Given the description of an element on the screen output the (x, y) to click on. 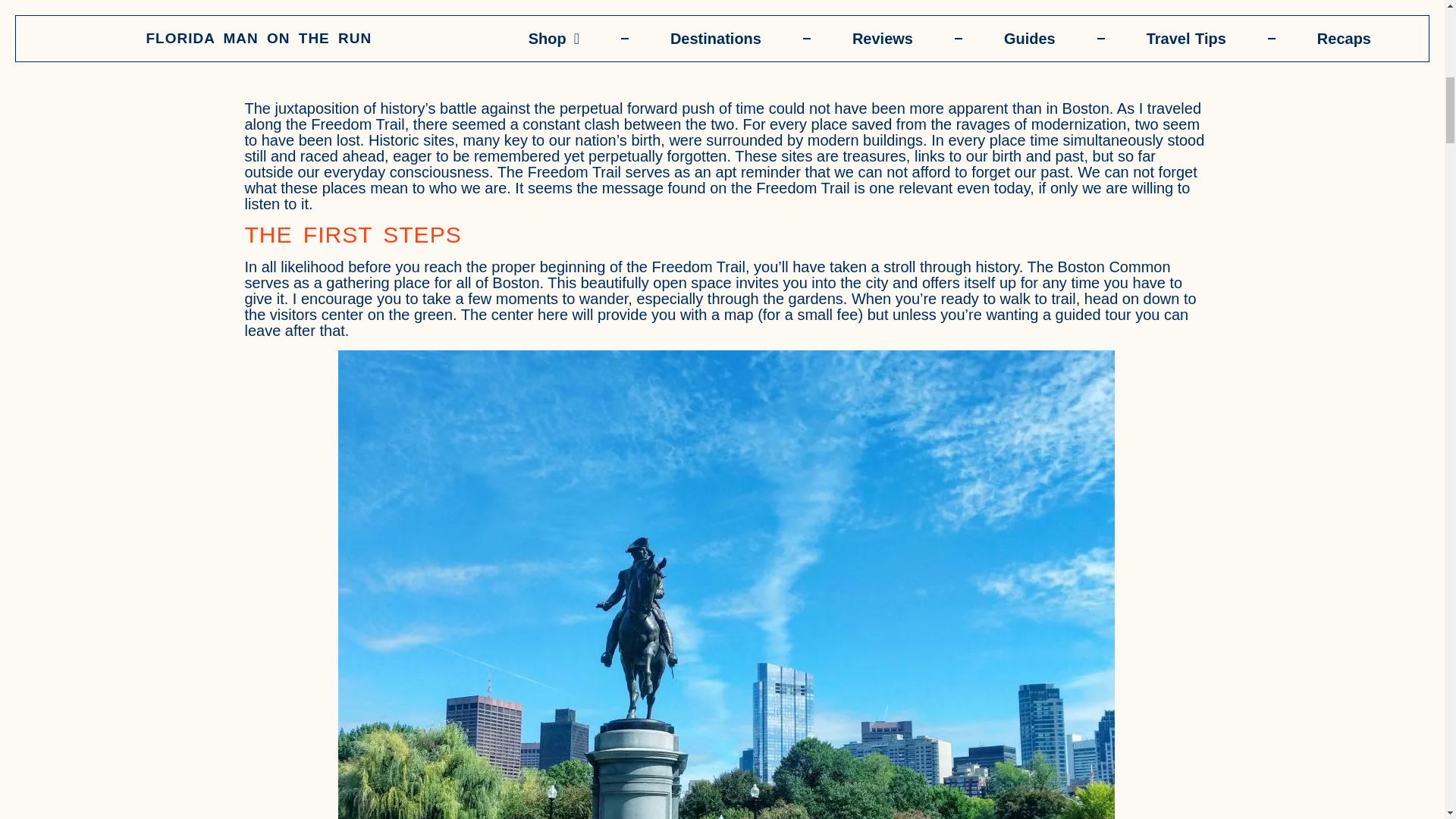
Share on Flipboard (748, 55)
Share on Reddit (560, 55)
Share on Facebook (288, 55)
Share on X (384, 55)
Save to Pinterest (471, 55)
Share on Tumblr (650, 55)
